Given the description of an element on the screen output the (x, y) to click on. 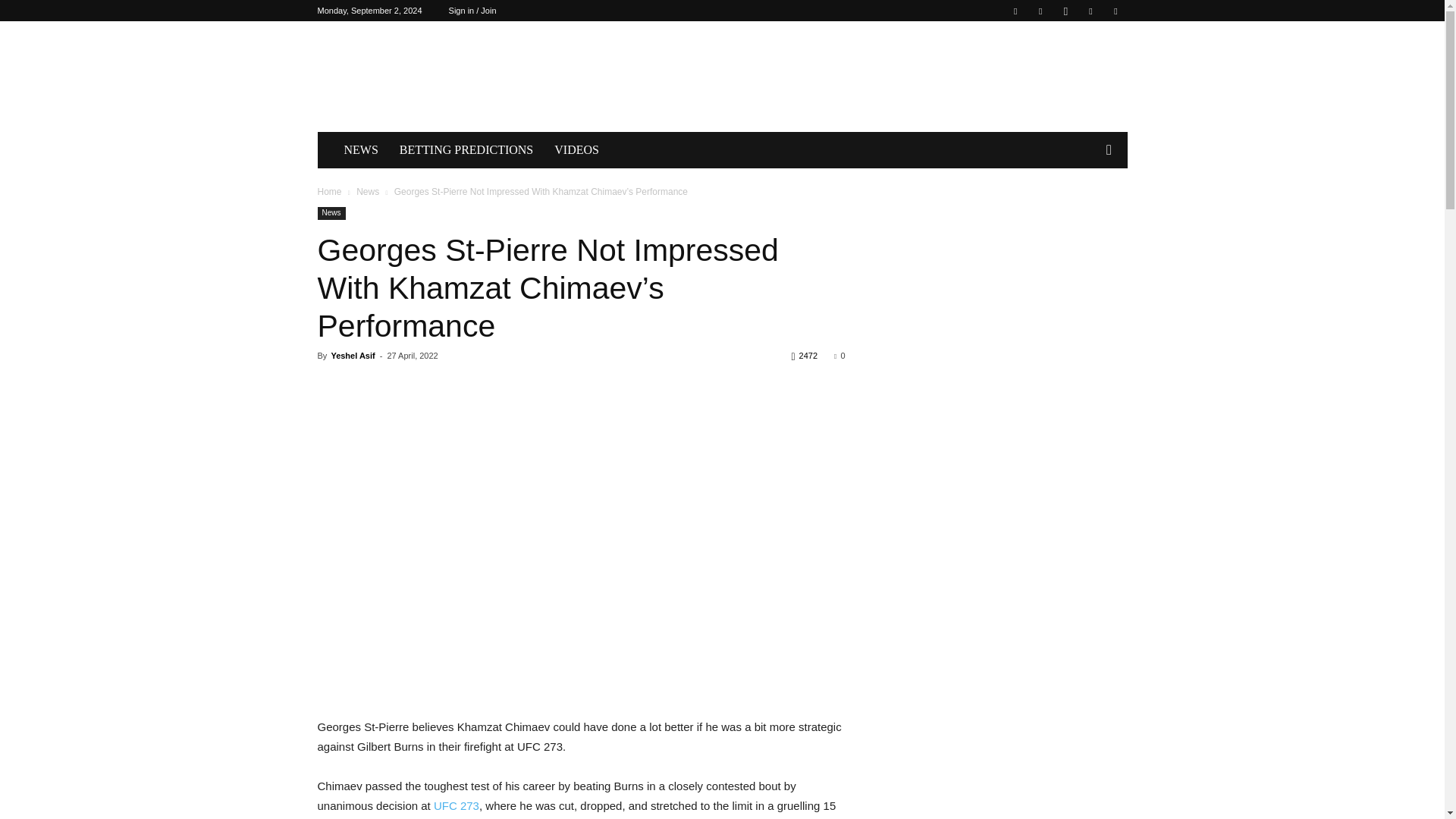
View all posts in News (367, 191)
Facebook (1015, 10)
Instagram (1065, 10)
Twitter (1090, 10)
NEWS (360, 149)
Youtube (1114, 10)
